Given the description of an element on the screen output the (x, y) to click on. 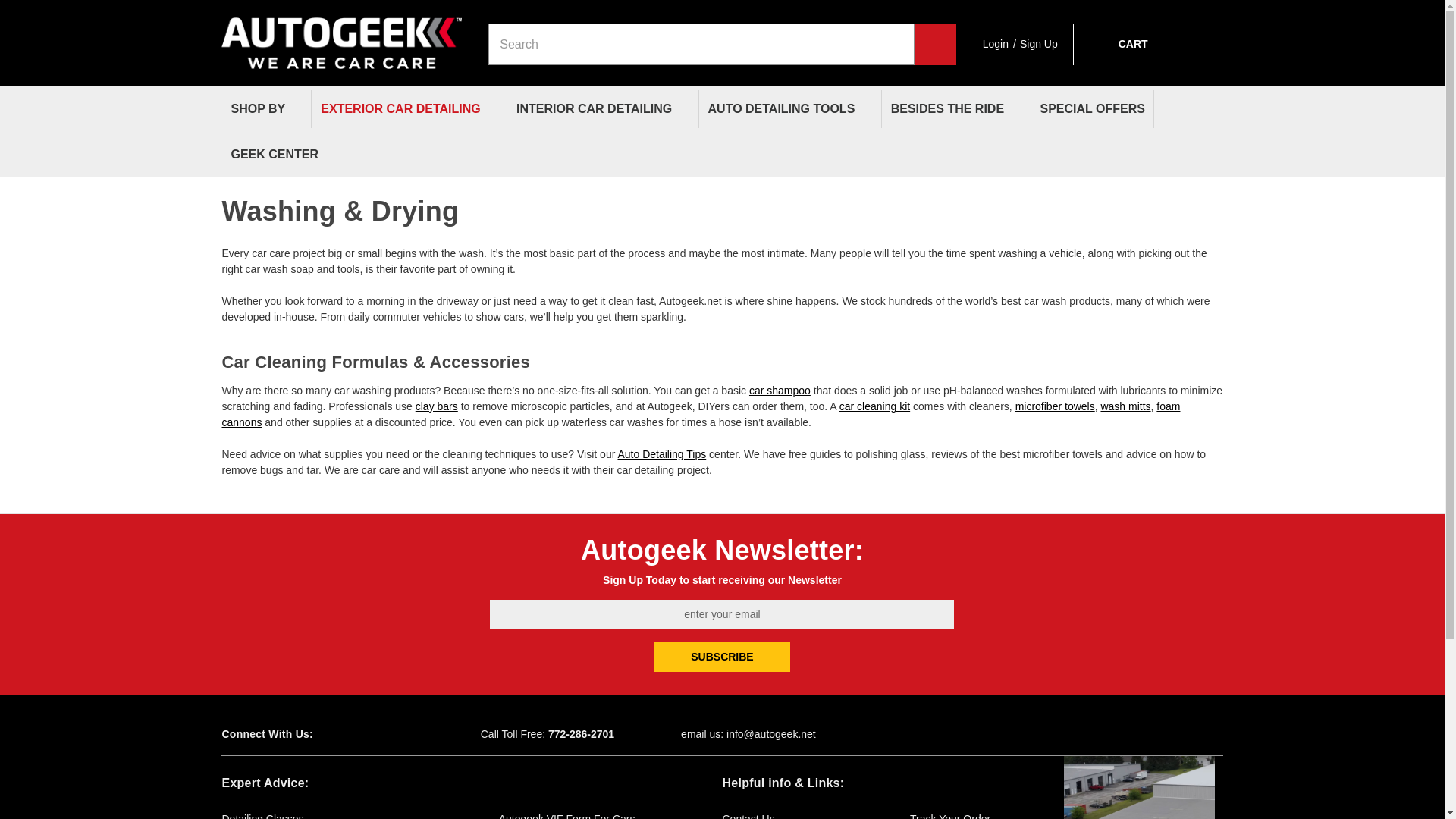
wash mitts (1125, 406)
foam cannons (700, 414)
CART (1117, 44)
Subscribe (721, 656)
Login (995, 44)
Sign Up (1039, 44)
Instagram (405, 734)
Youtube (379, 734)
Facebook (351, 734)
Autogeek.net (341, 35)
